Given the description of an element on the screen output the (x, y) to click on. 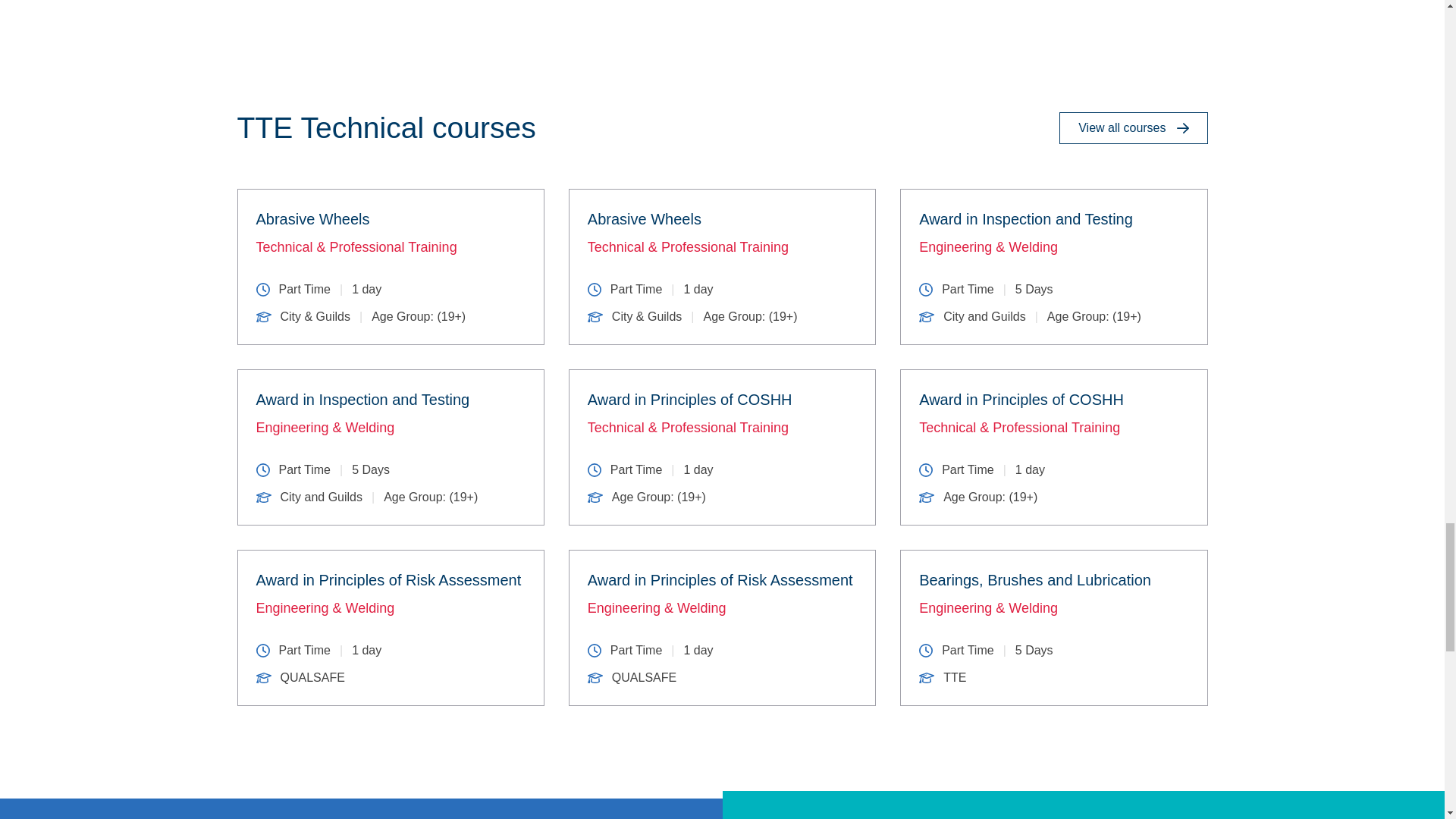
View full detail (1053, 447)
View full detail (722, 266)
View full detail (722, 447)
View full detail (389, 266)
View full detail (389, 447)
View full detail (722, 627)
View full detail (389, 627)
View full detail (1053, 627)
View full detail (1053, 266)
